Given the description of an element on the screen output the (x, y) to click on. 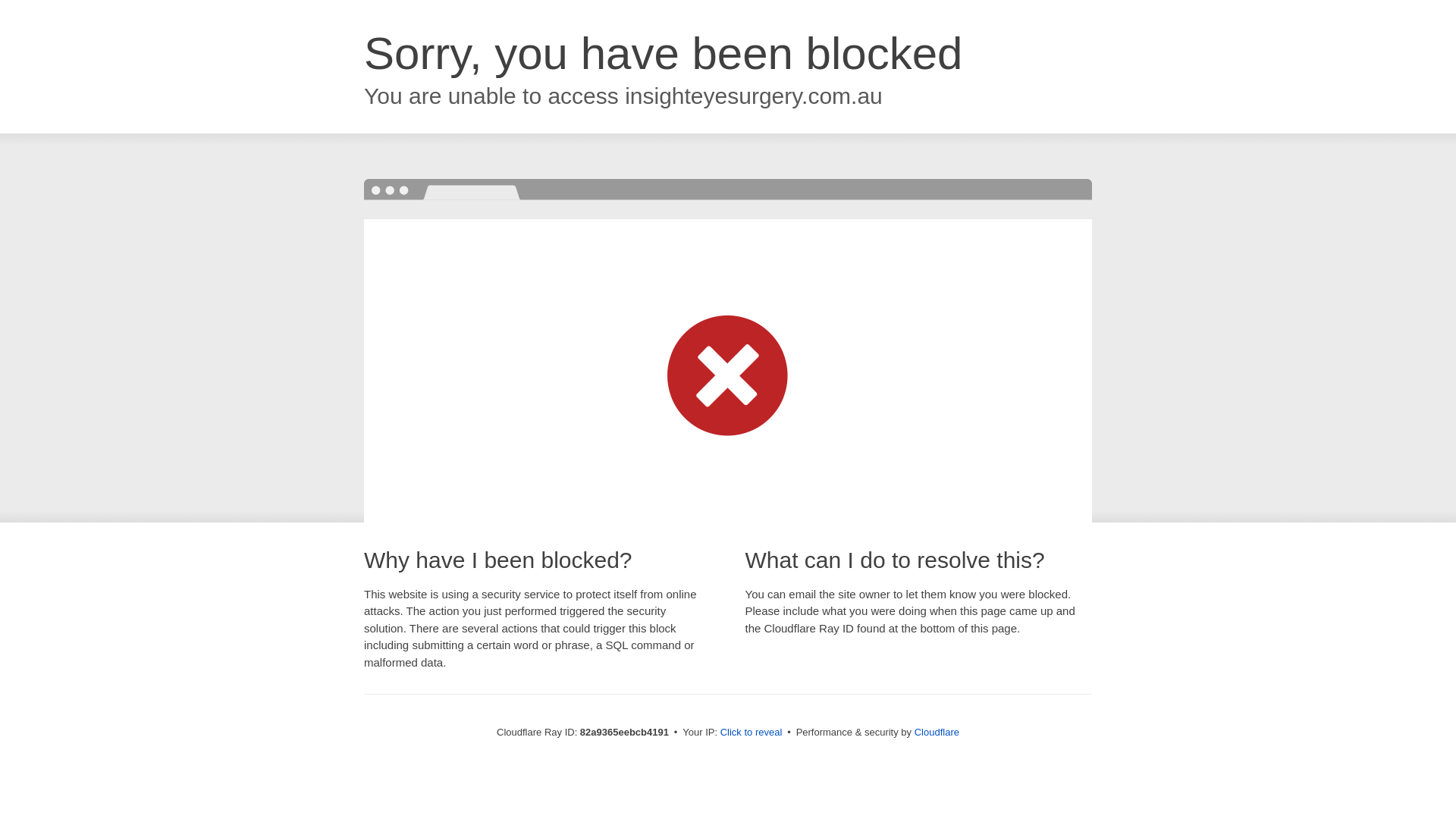
Click to reveal Element type: text (751, 732)
Cloudflare Element type: text (936, 731)
